Given the description of an element on the screen output the (x, y) to click on. 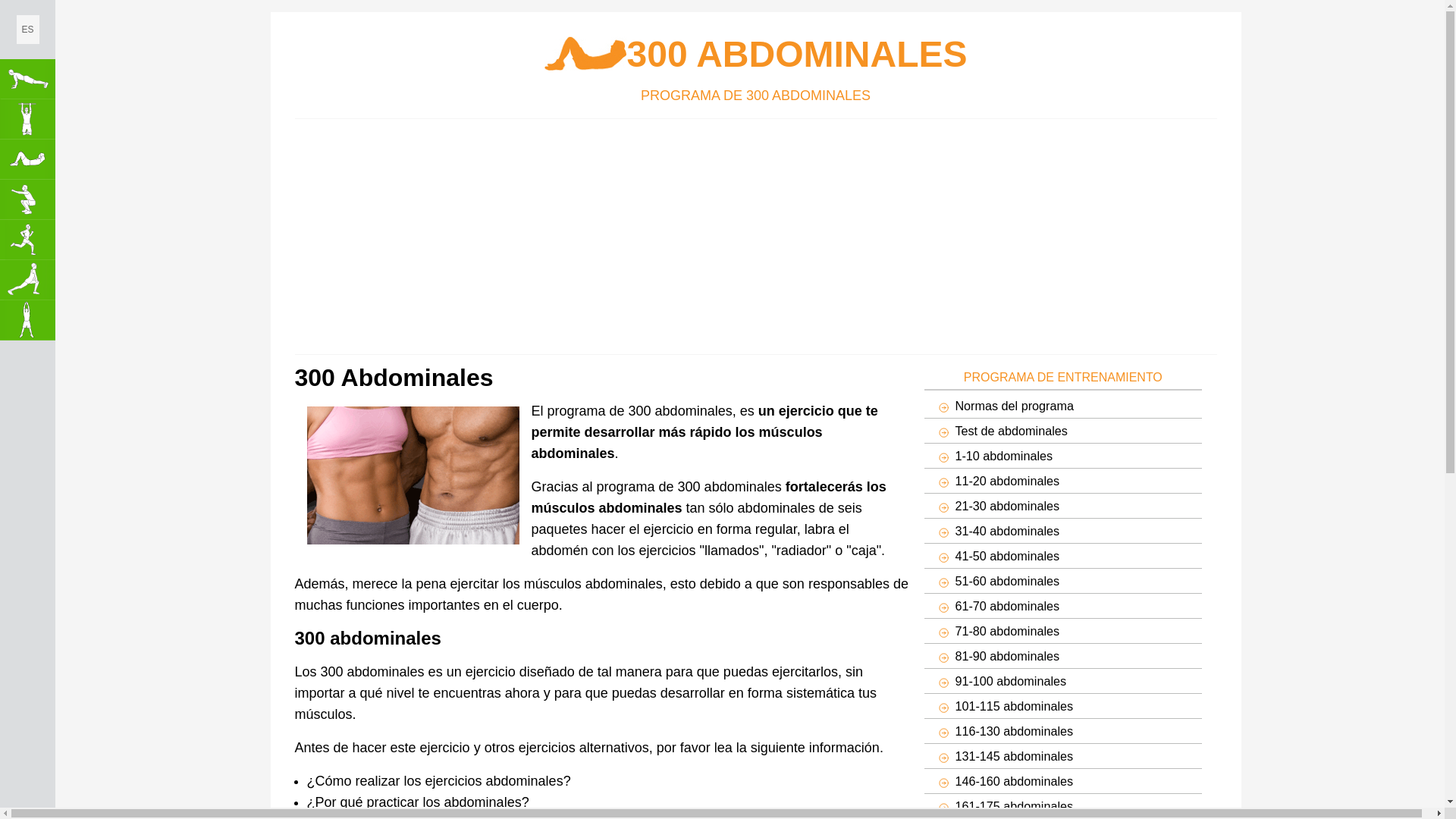
131-145 abdominales Element type: text (1062, 755)
1-10 abdominales Element type: text (1062, 455)
91-100 abdominales Element type: text (1062, 680)
Advertisement Element type: hover (505, 232)
Test de abdominales Element type: text (1062, 430)
Normas del programa Element type: text (1062, 405)
21-30 abdominales Element type: text (1062, 505)
300 Sentadillas Element type: hover (27, 199)
161-175 abdominales Element type: text (1062, 805)
50 Dominadas Element type: hover (27, 119)
Corre 40 minutos Element type: hover (27, 239)
Haga Calentamiento Element type: hover (27, 320)
Haga Estiramientos Element type: hover (27, 280)
116-130 abdominales Element type: text (1062, 730)
101-115 abdominales Element type: text (1062, 705)
41-50 abdominales Element type: text (1062, 555)
ES Element type: text (27, 29)
300 ABDOMINALES Element type: text (755, 54)
61-70 abdominales Element type: text (1062, 605)
71-80 abdominales Element type: text (1062, 630)
51-60 abdominales Element type: text (1062, 580)
100 Flexiones de Brazos Element type: hover (27, 79)
300 Abdominales Element type: hover (27, 159)
81-90 abdominales Element type: text (1062, 655)
146-160 abdominales Element type: text (1062, 780)
31-40 abdominales Element type: text (1062, 530)
11-20 abdominales Element type: text (1062, 480)
